Given the description of an element on the screen output the (x, y) to click on. 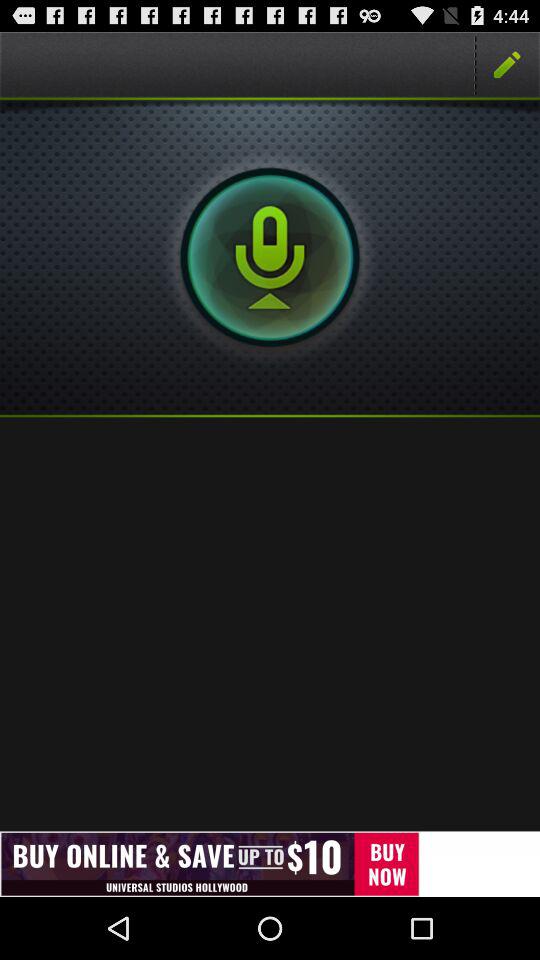
press the item at the top right corner (507, 64)
